Given the description of an element on the screen output the (x, y) to click on. 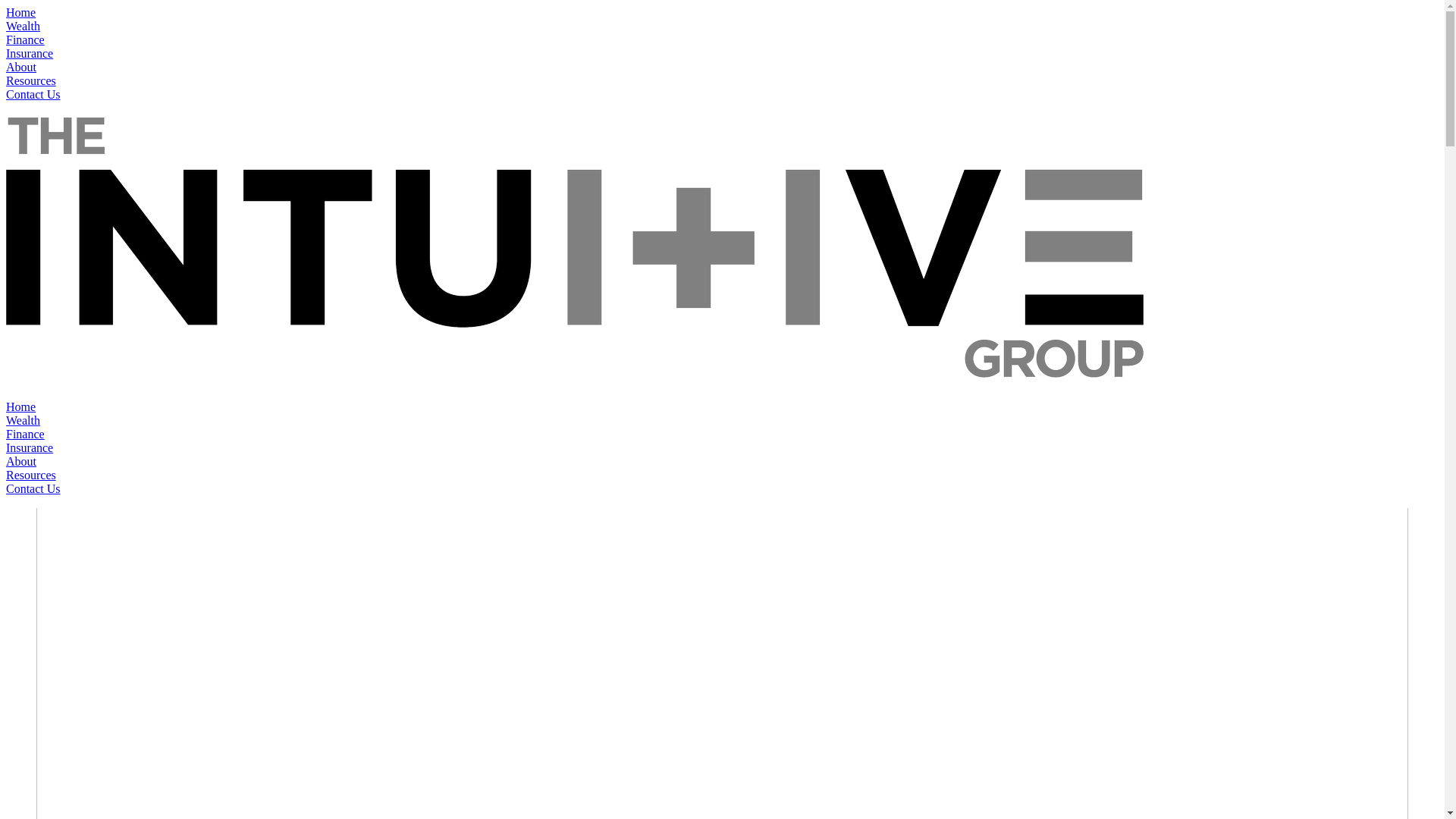
Insurance Element type: text (29, 447)
About Element type: text (21, 461)
Insurance Element type: text (29, 53)
Home Element type: text (20, 406)
Resources Element type: text (31, 80)
Finance Element type: text (25, 433)
Wealth Element type: text (23, 420)
Resources Element type: text (31, 474)
Home Element type: text (20, 12)
Finance Element type: text (25, 39)
Contact Us Element type: text (33, 93)
Wealth Element type: text (23, 25)
About Element type: text (21, 66)
Contact Us Element type: text (33, 488)
